Given the description of an element on the screen output the (x, y) to click on. 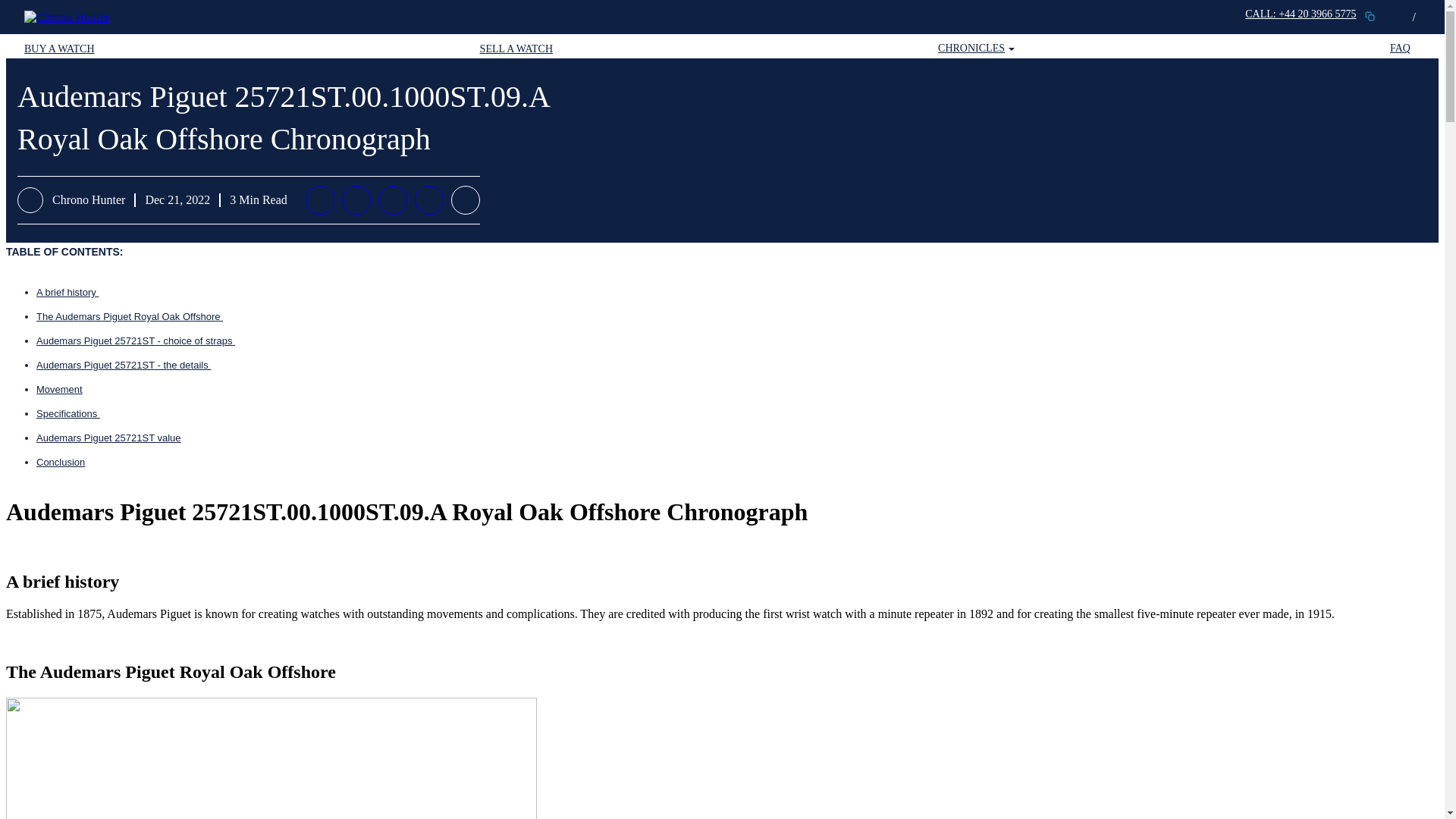
Specifications  (68, 413)
Audemars Piguet 25721ST value (108, 437)
Audemars Piguet 25721ST - the details  (123, 365)
A brief history  (67, 292)
Movement (59, 389)
Audemars Piguet 25721ST - choice of straps  (135, 340)
BUY A WATCH (64, 48)
FAQ (1405, 48)
Conclusion (60, 461)
CHRONICLES (975, 48)
